Given the description of an element on the screen output the (x, y) to click on. 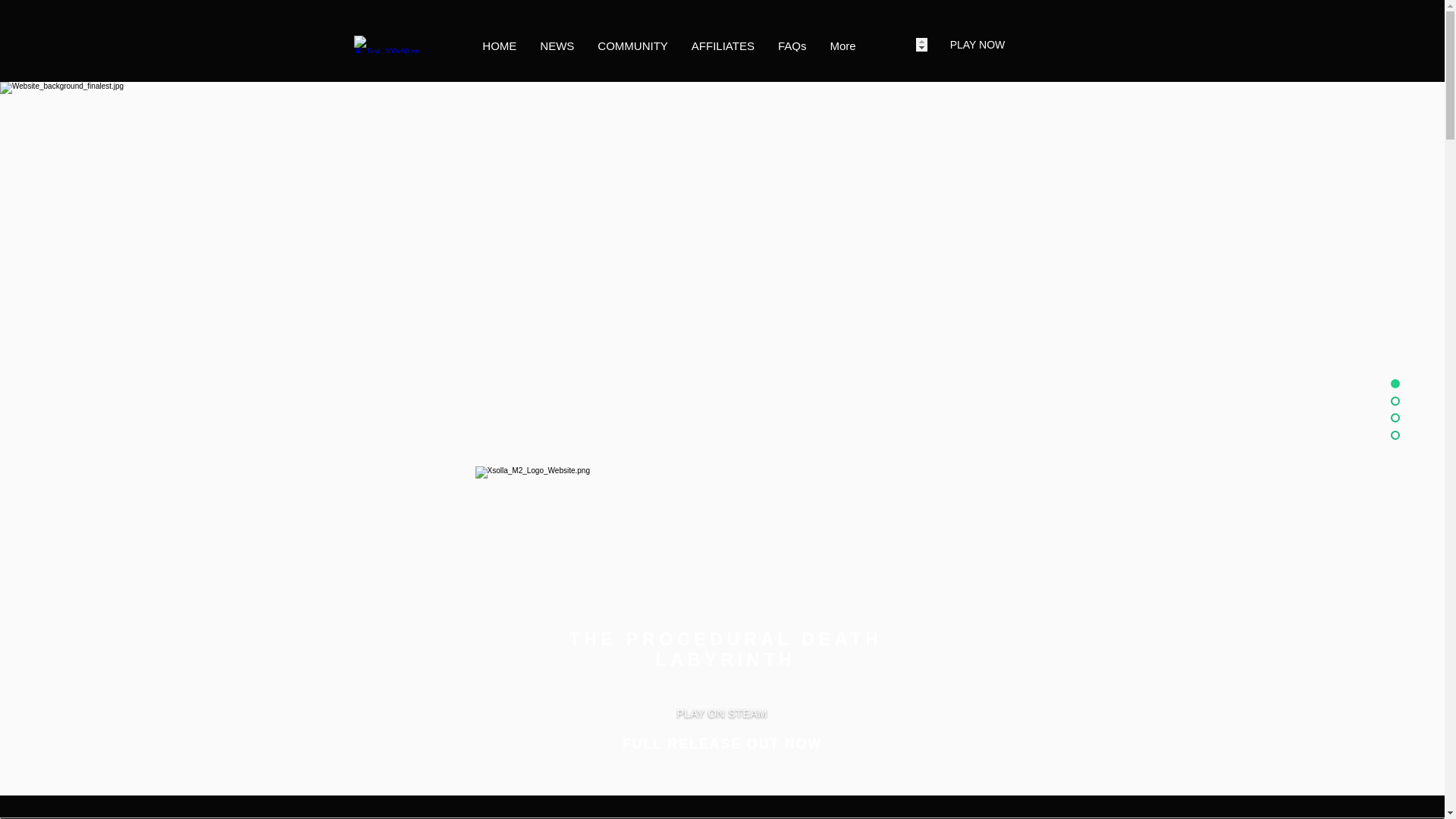
NEWS (556, 44)
PLAY NOW (976, 44)
AFFILIATES (722, 44)
Twitter Follow (119, 774)
COMMUNITY (632, 44)
HOME (498, 44)
PLAY ON STEAM (721, 712)
Facebook Like (119, 795)
FAQs (792, 44)
